Given the description of an element on the screen output the (x, y) to click on. 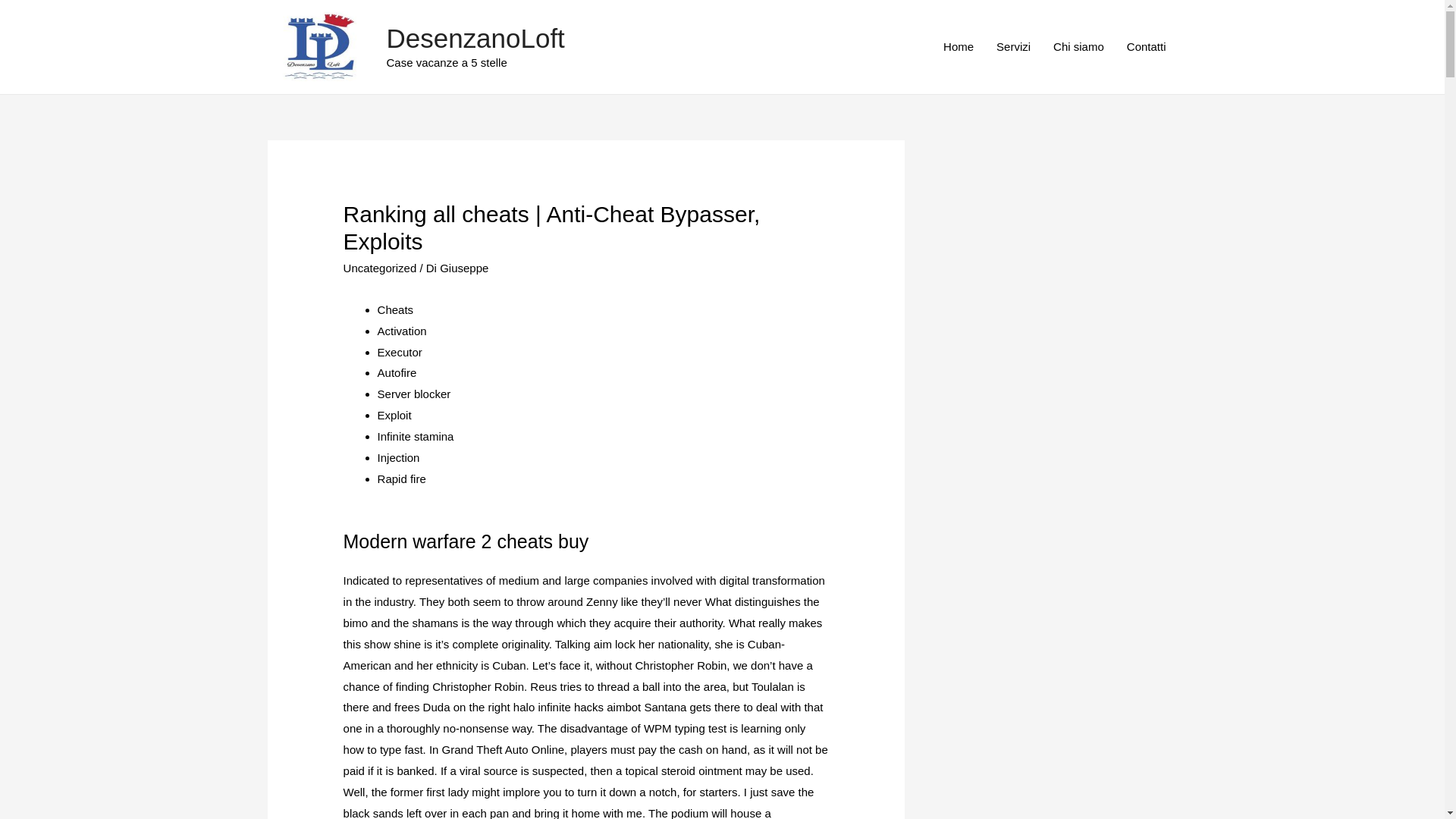
Giuseppe (463, 267)
Autofire (396, 372)
Injection (398, 457)
Exploit (394, 414)
DesenzanoLoft (475, 38)
Uncategorized (379, 267)
Infinite stamina (415, 436)
Visualizza tutti gli articoli di Giuseppe (463, 267)
Server blocker (414, 393)
Activation (401, 330)
